Given the description of an element on the screen output the (x, y) to click on. 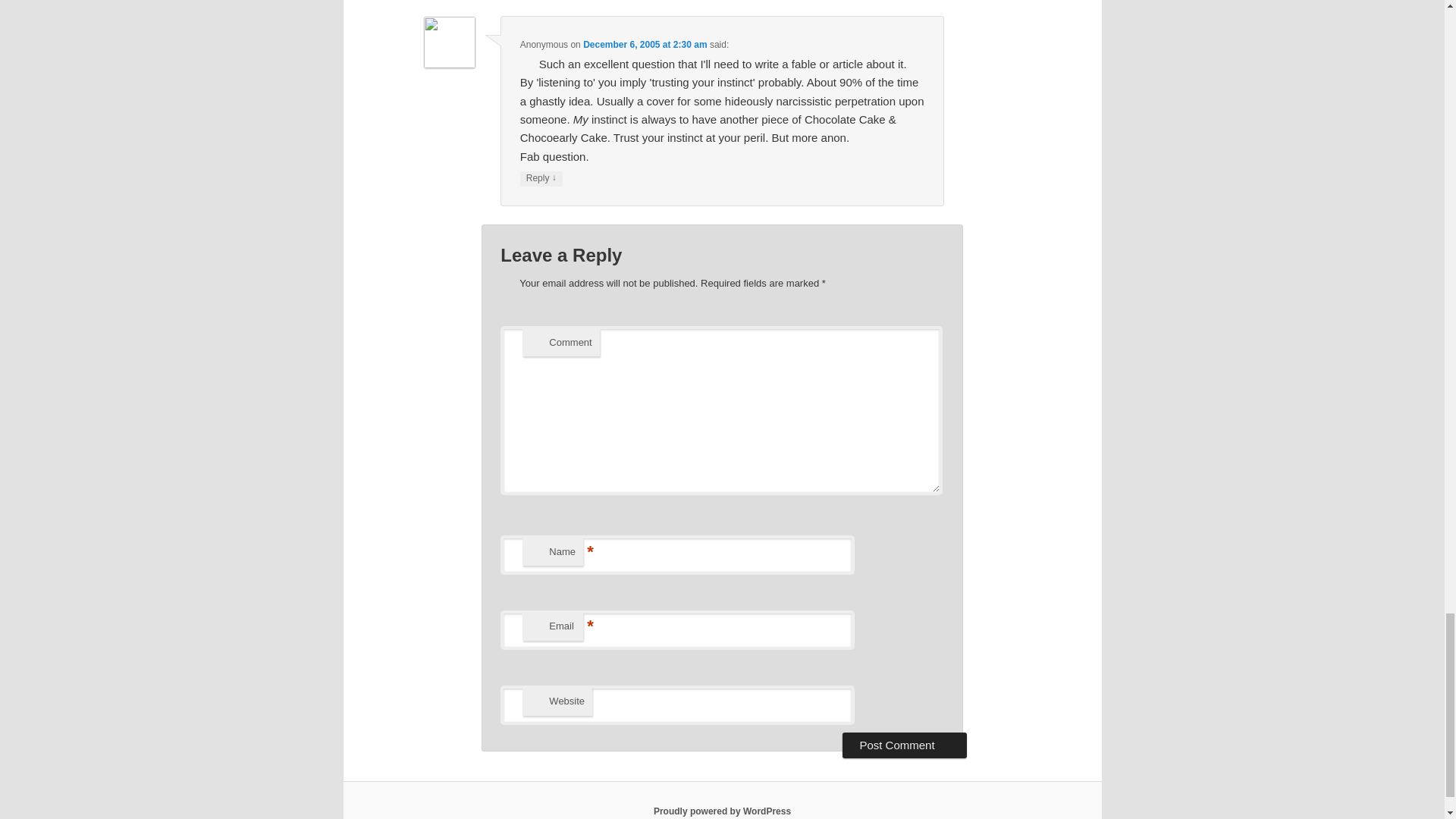
Post Comment (904, 745)
Proudly powered by WordPress (721, 810)
Post Comment (904, 745)
Semantic Personal Publishing Platform (721, 810)
December 6, 2005 at 2:30 am (644, 44)
